Given the description of an element on the screen output the (x, y) to click on. 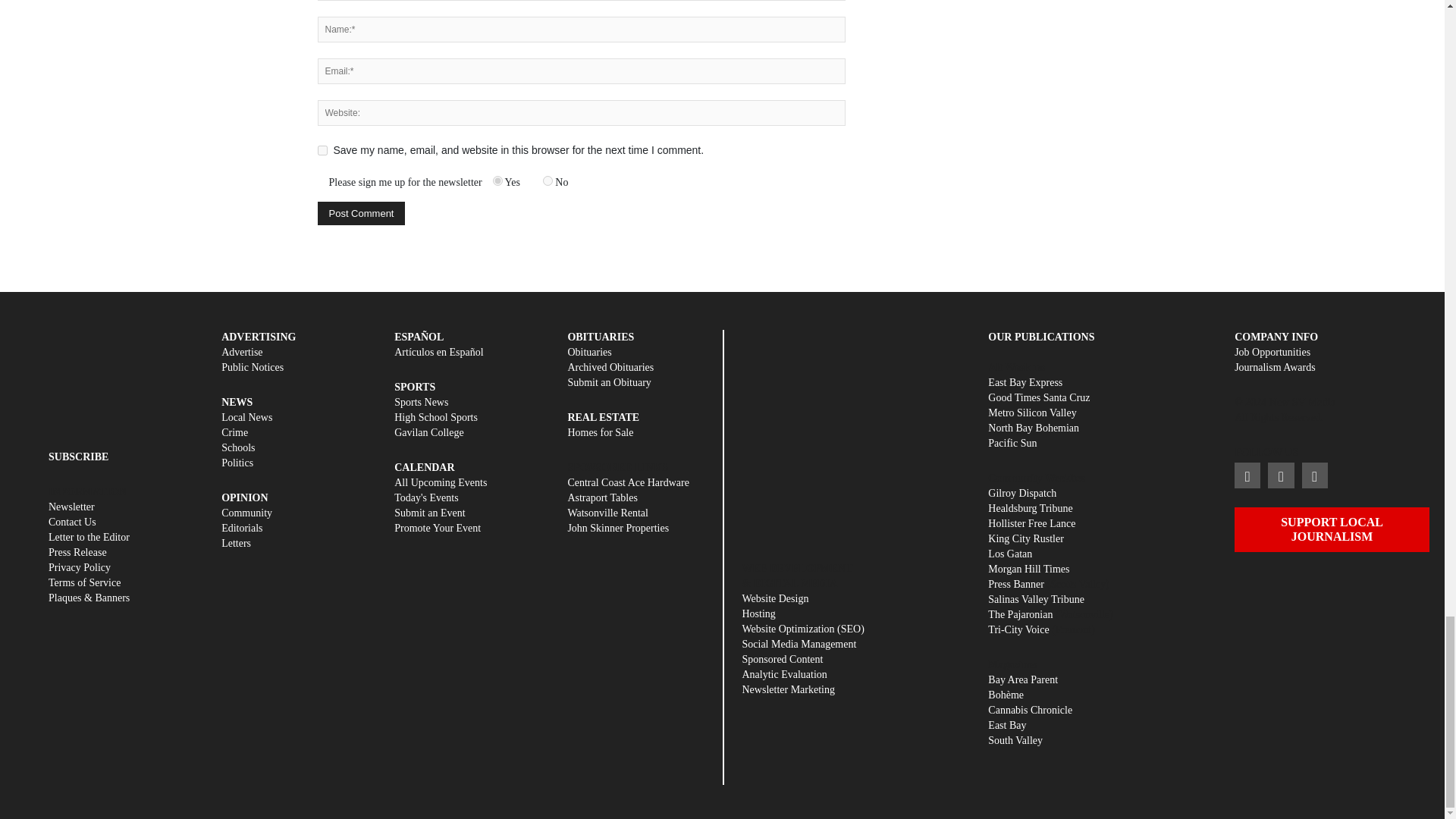
No (548, 180)
yes (321, 150)
Post Comment (360, 213)
Yes (497, 180)
